Given the description of an element on the screen output the (x, y) to click on. 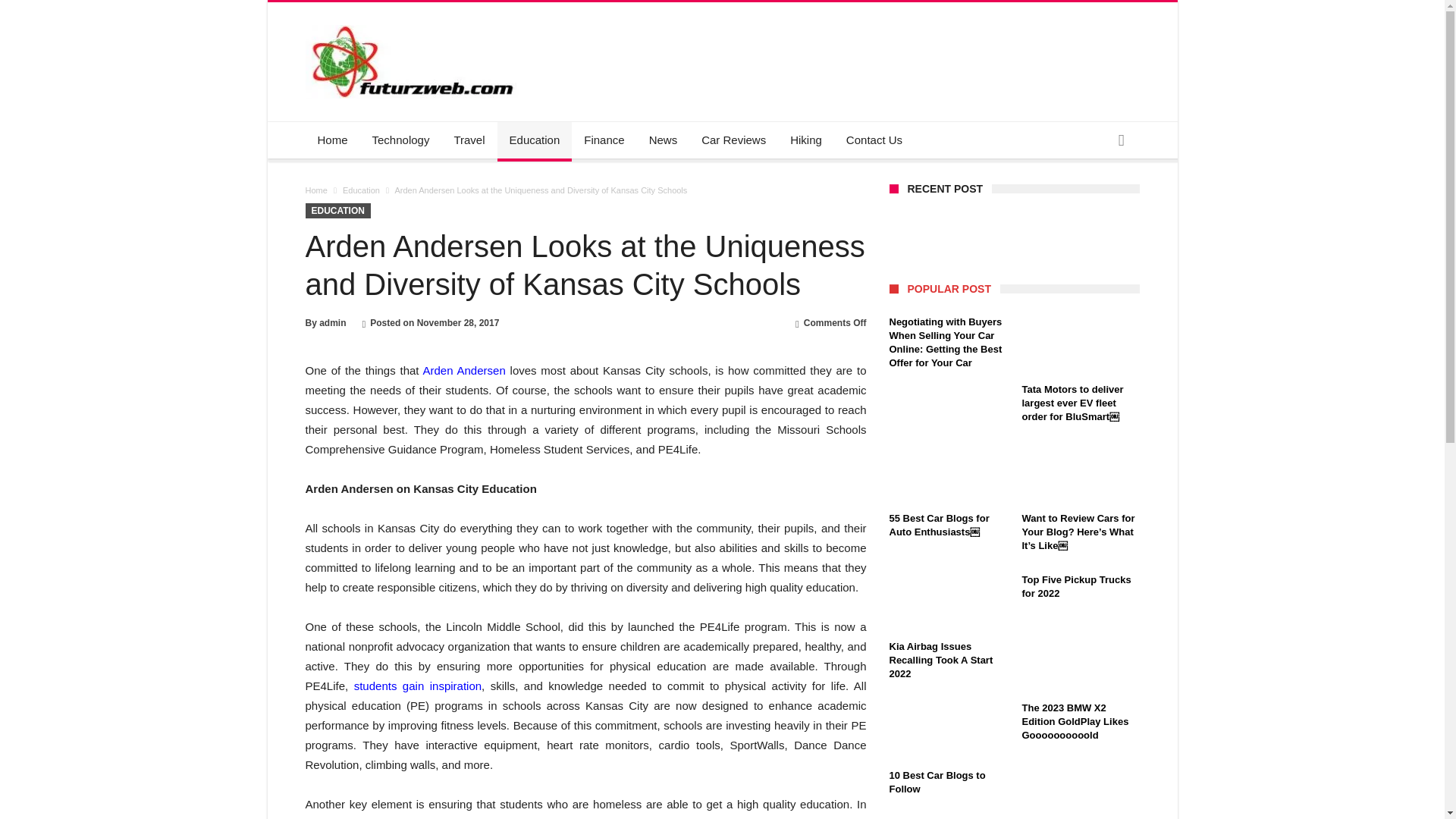
Technology (400, 140)
Education (534, 140)
Home (331, 140)
Car Reviews (732, 140)
admin (332, 322)
Futurzweb (414, 24)
students gain inspiration (417, 685)
Finance (604, 140)
EDUCATION (336, 210)
Travel (468, 140)
Hiking (805, 140)
Arden Andersen (464, 369)
Home (315, 189)
News (663, 140)
Education (361, 189)
